Given the description of an element on the screen output the (x, y) to click on. 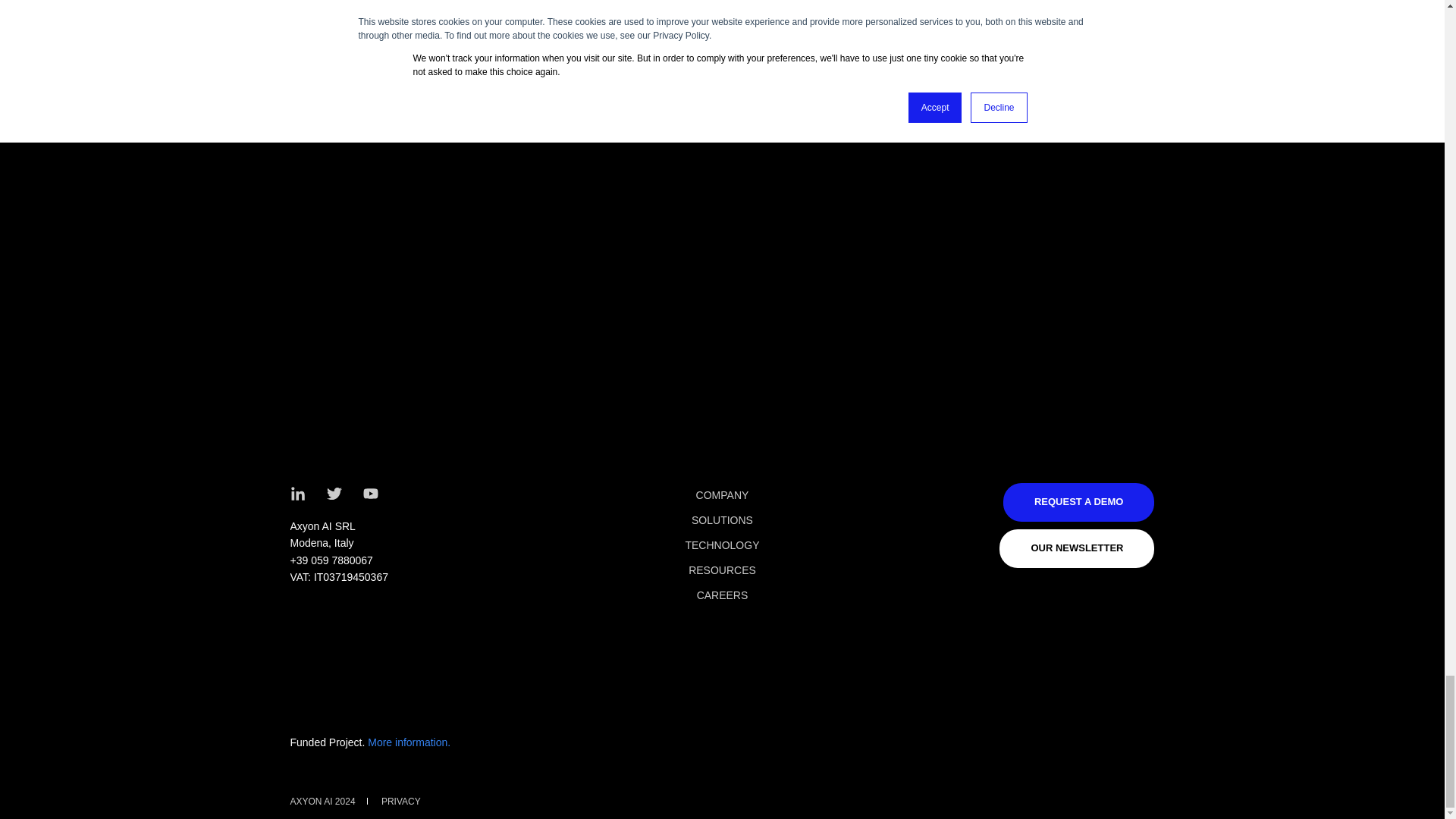
Button OUR NEWSLETTER (1076, 548)
Button REQUEST A DEMO (1078, 502)
